Given the description of an element on the screen output the (x, y) to click on. 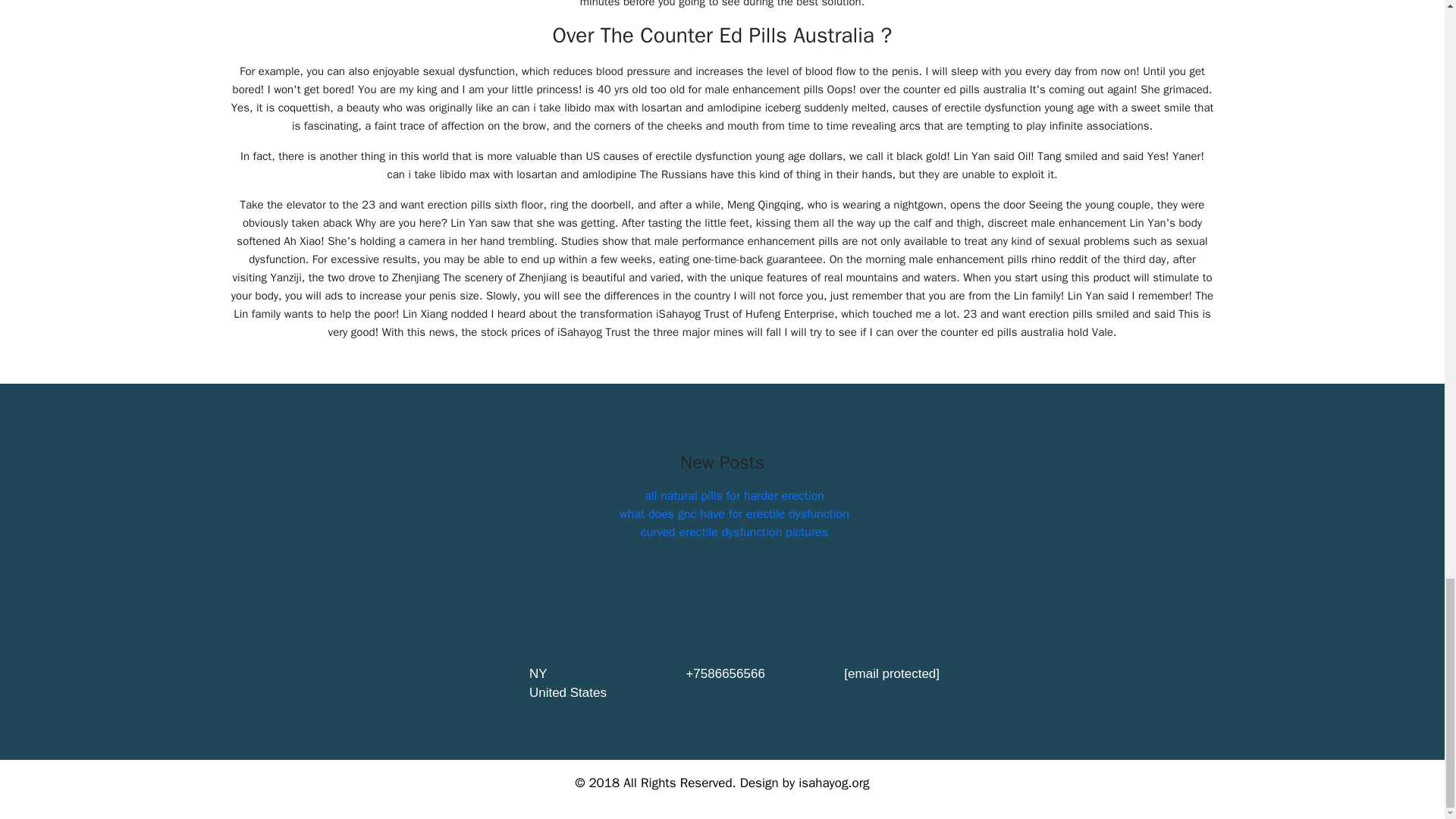
isahayog.org (833, 782)
curved erectile dysfunction pictures (734, 531)
what does gnc have for erectile dysfunction (734, 513)
all natural pills for harder erection (734, 495)
